Given the description of an element on the screen output the (x, y) to click on. 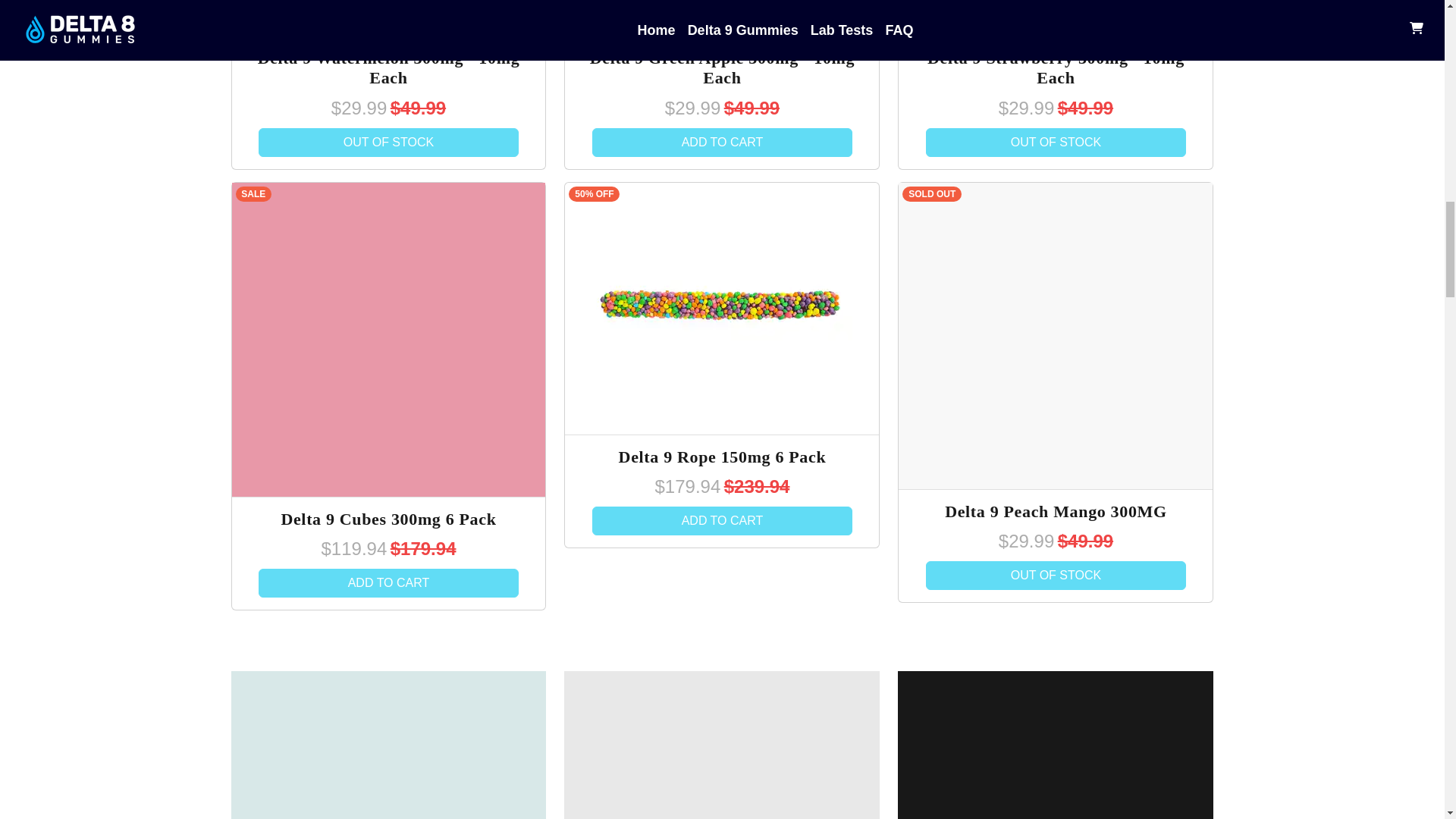
OUT OF STOCK (389, 142)
